Given the description of an element on the screen output the (x, y) to click on. 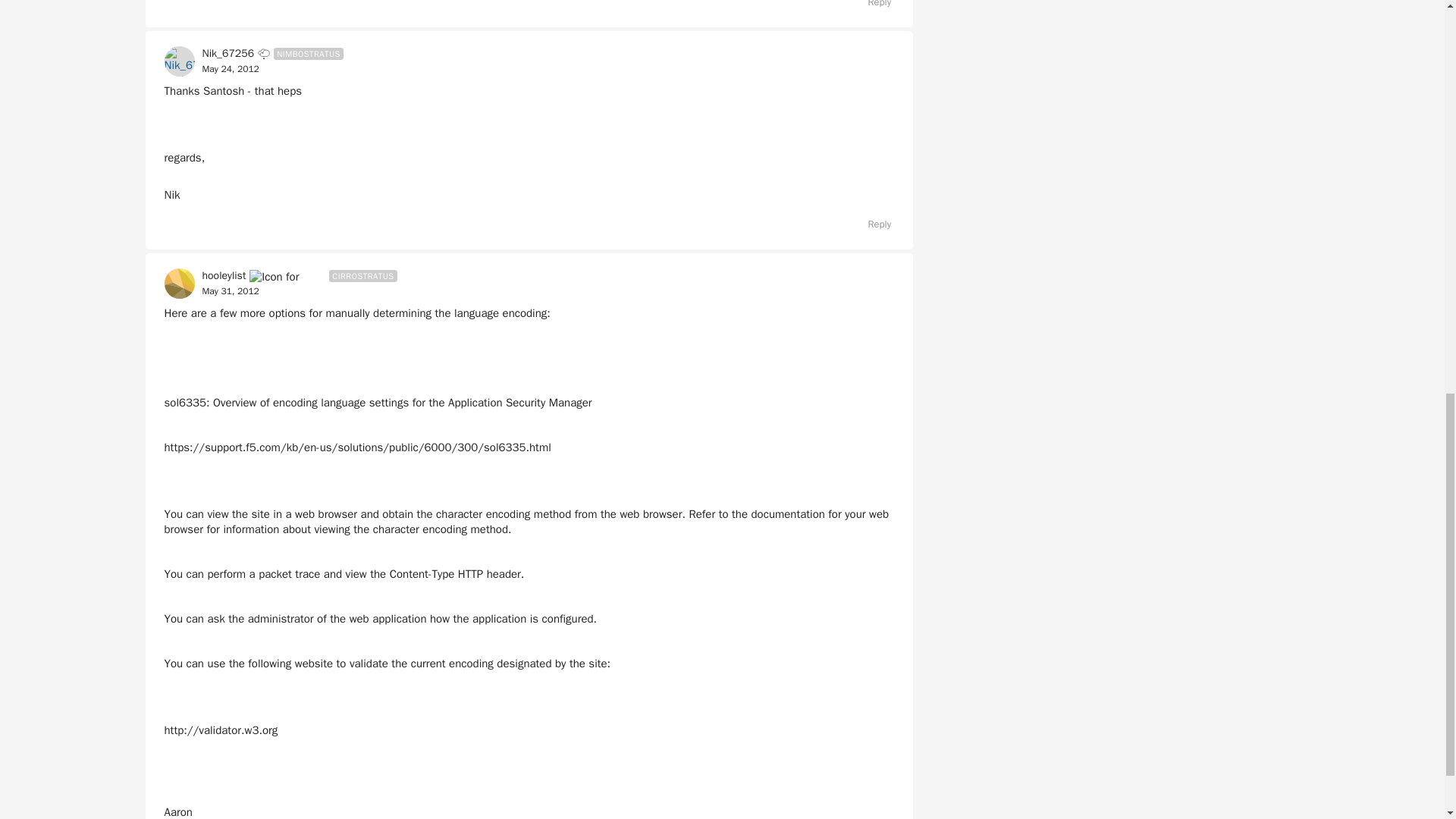
hooleylist (224, 275)
Reply (871, 6)
May 31, 2012 (230, 291)
May 31, 2012 at 6:01 PM (230, 291)
May 24, 2012 at 3:19 PM (230, 69)
Reply (871, 224)
May 24, 2012 (230, 69)
